Given the description of an element on the screen output the (x, y) to click on. 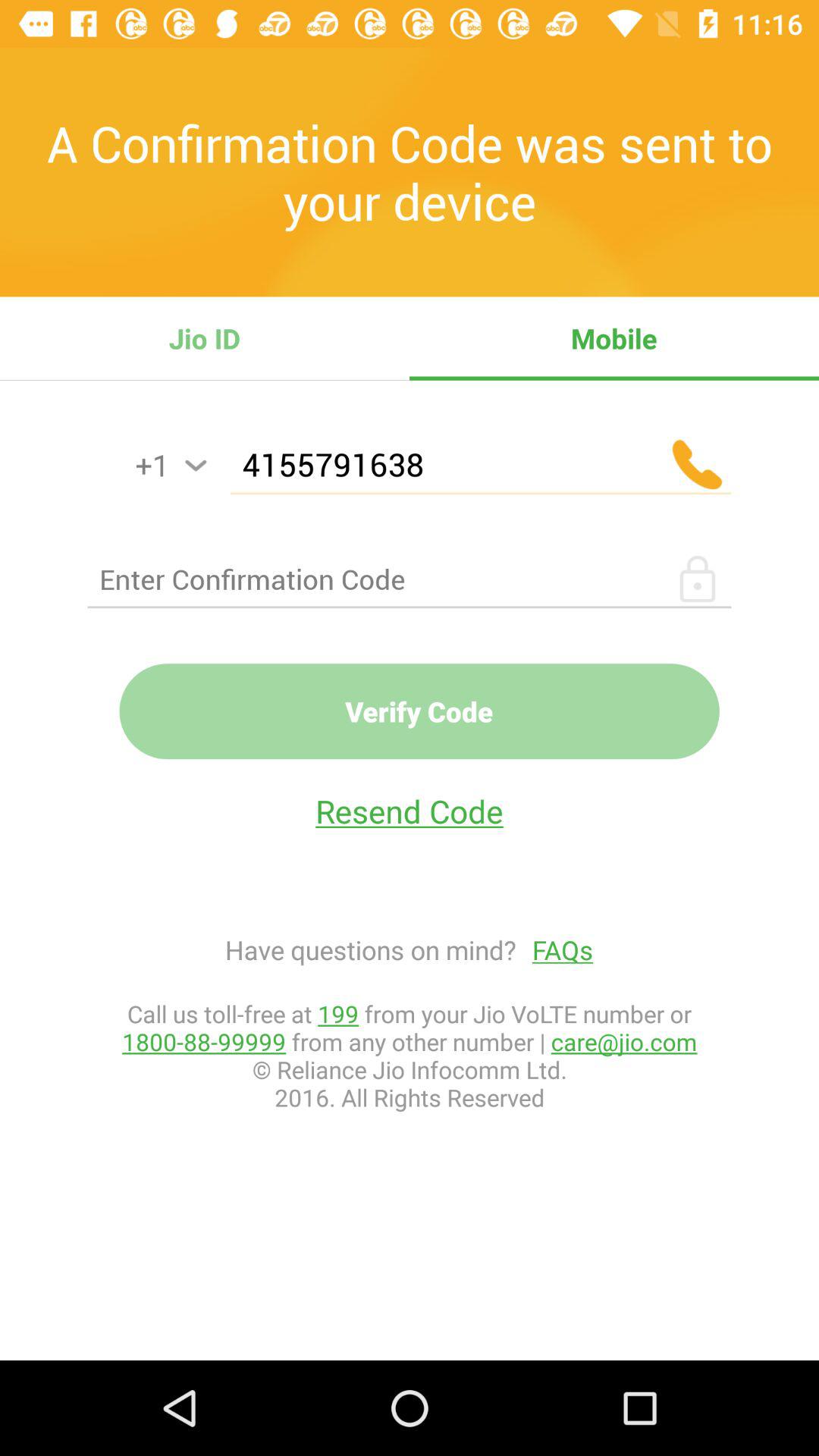
turn on the icon to the left of 4155791638 (195, 465)
